Given the description of an element on the screen output the (x, y) to click on. 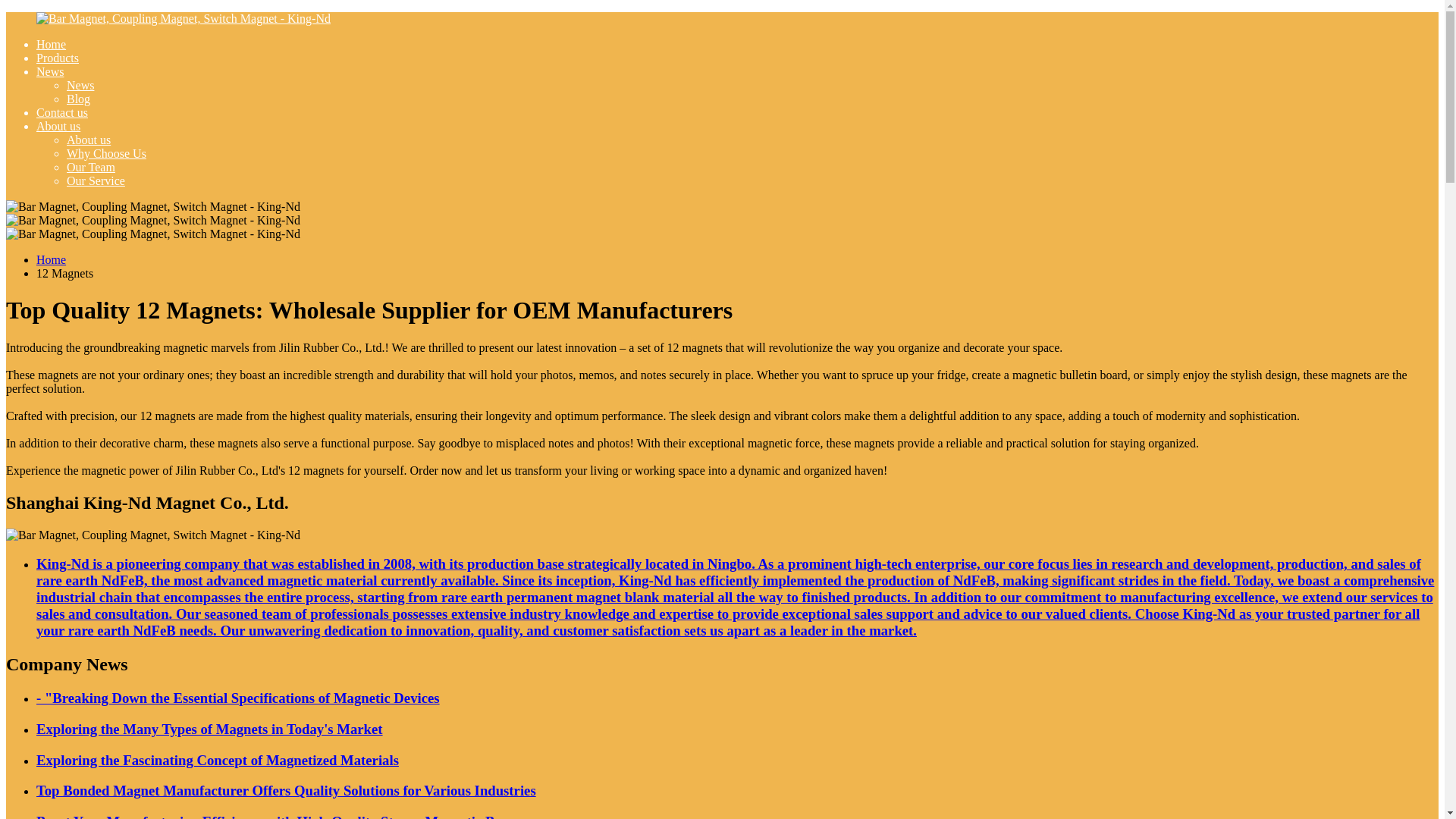
Our Team (90, 166)
Products (57, 57)
News (80, 84)
About us (58, 125)
Our Service (95, 180)
Contact us (61, 112)
Why Choose Us (106, 153)
Home (50, 259)
Blog (78, 98)
Home (50, 43)
